Given the description of an element on the screen output the (x, y) to click on. 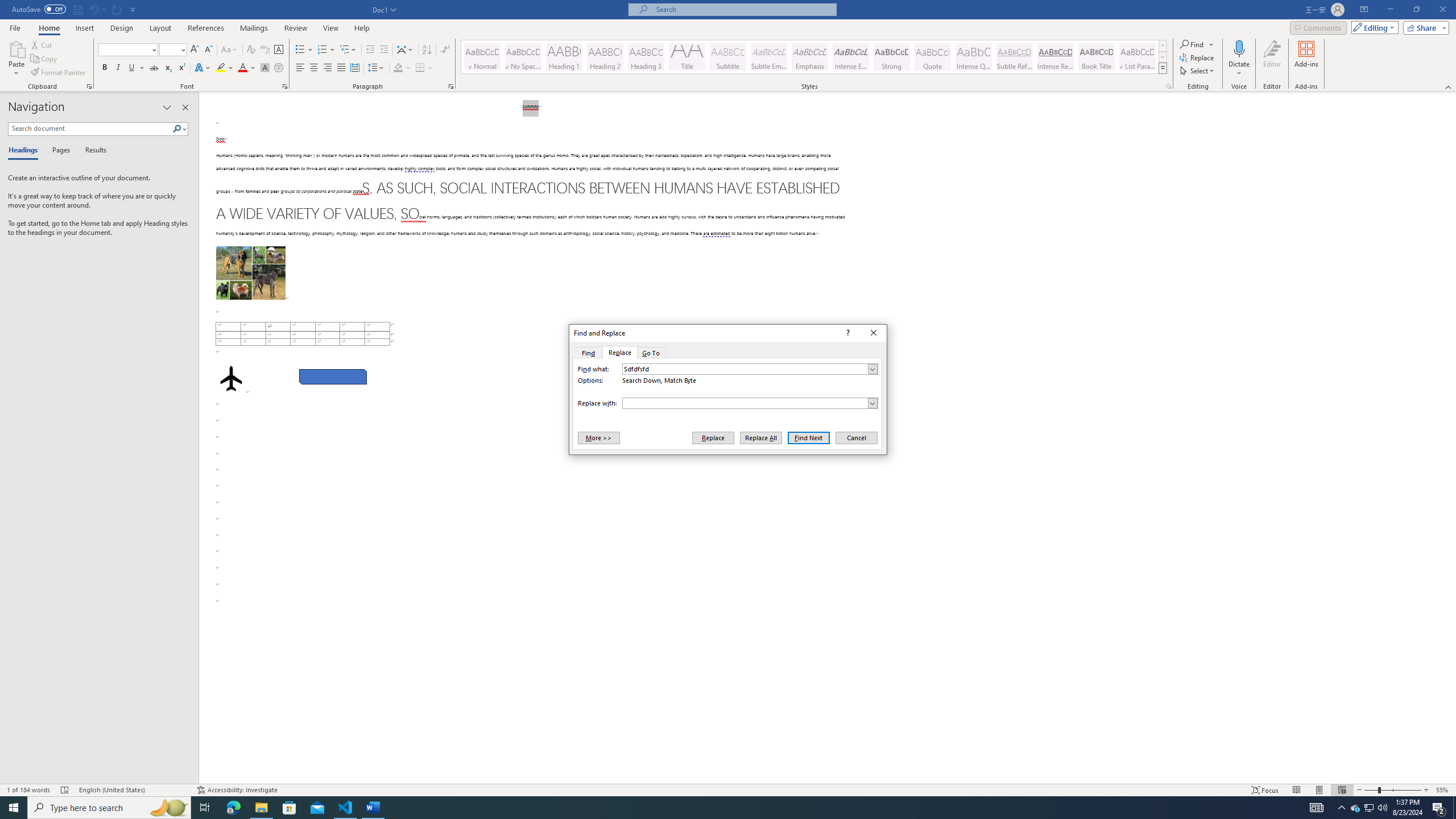
Morphological variation in six dogs (250, 272)
Rectangle: Diagonal Corners Snipped 2 (332, 376)
File Explorer - 1 running window (261, 807)
Intense Emphasis (849, 56)
Intense Quote (973, 56)
Paragraph... (450, 85)
Row up (1162, 45)
Replace with: (749, 402)
